Given the description of an element on the screen output the (x, y) to click on. 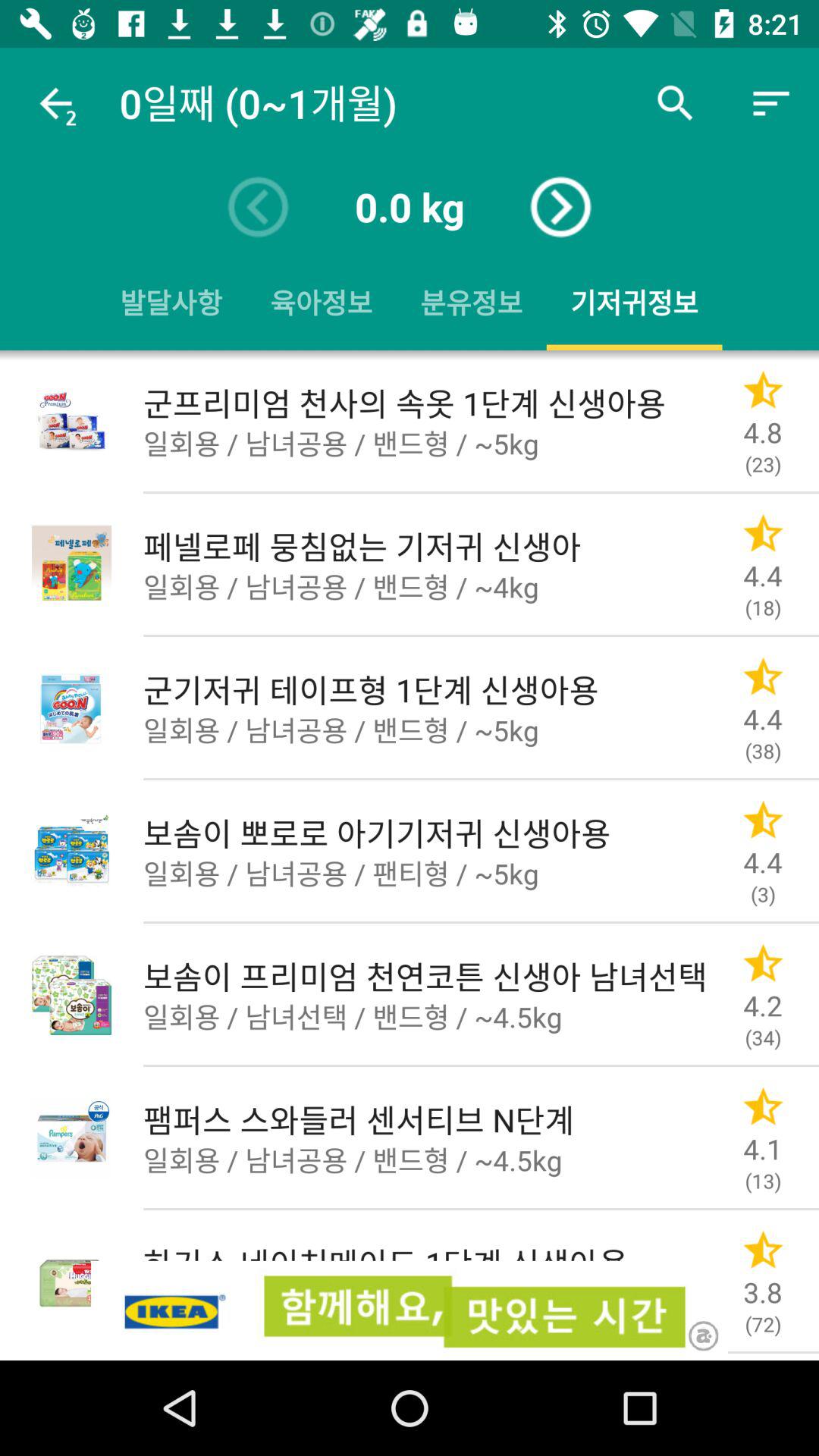
click on the first button below 00 kg (171, 302)
click on the fourth button with yellow underline (634, 302)
